Given the description of an element on the screen output the (x, y) to click on. 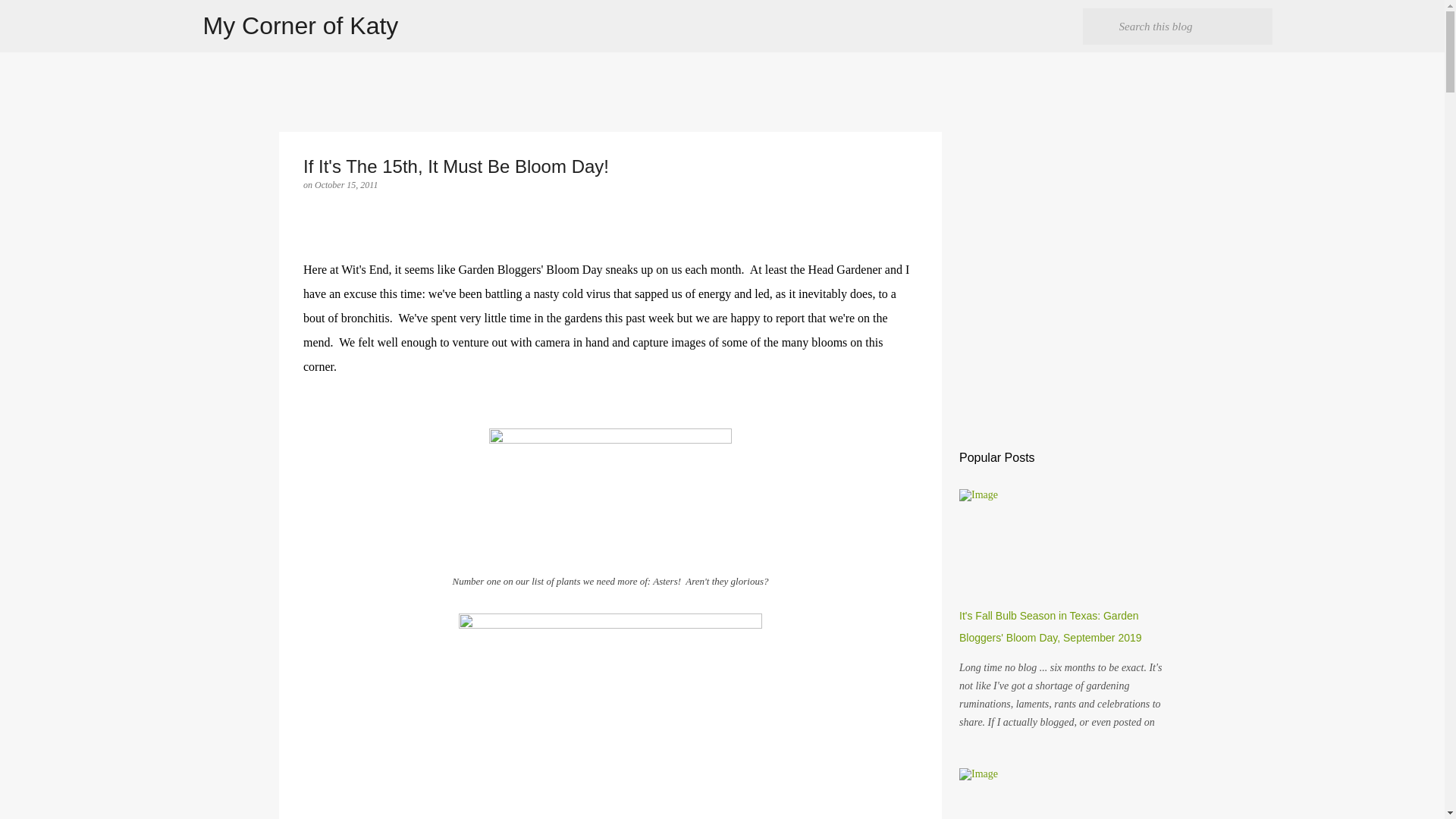
My Corner of Katy (300, 25)
October 15, 2011 (345, 184)
permanent link (345, 184)
